Given the description of an element on the screen output the (x, y) to click on. 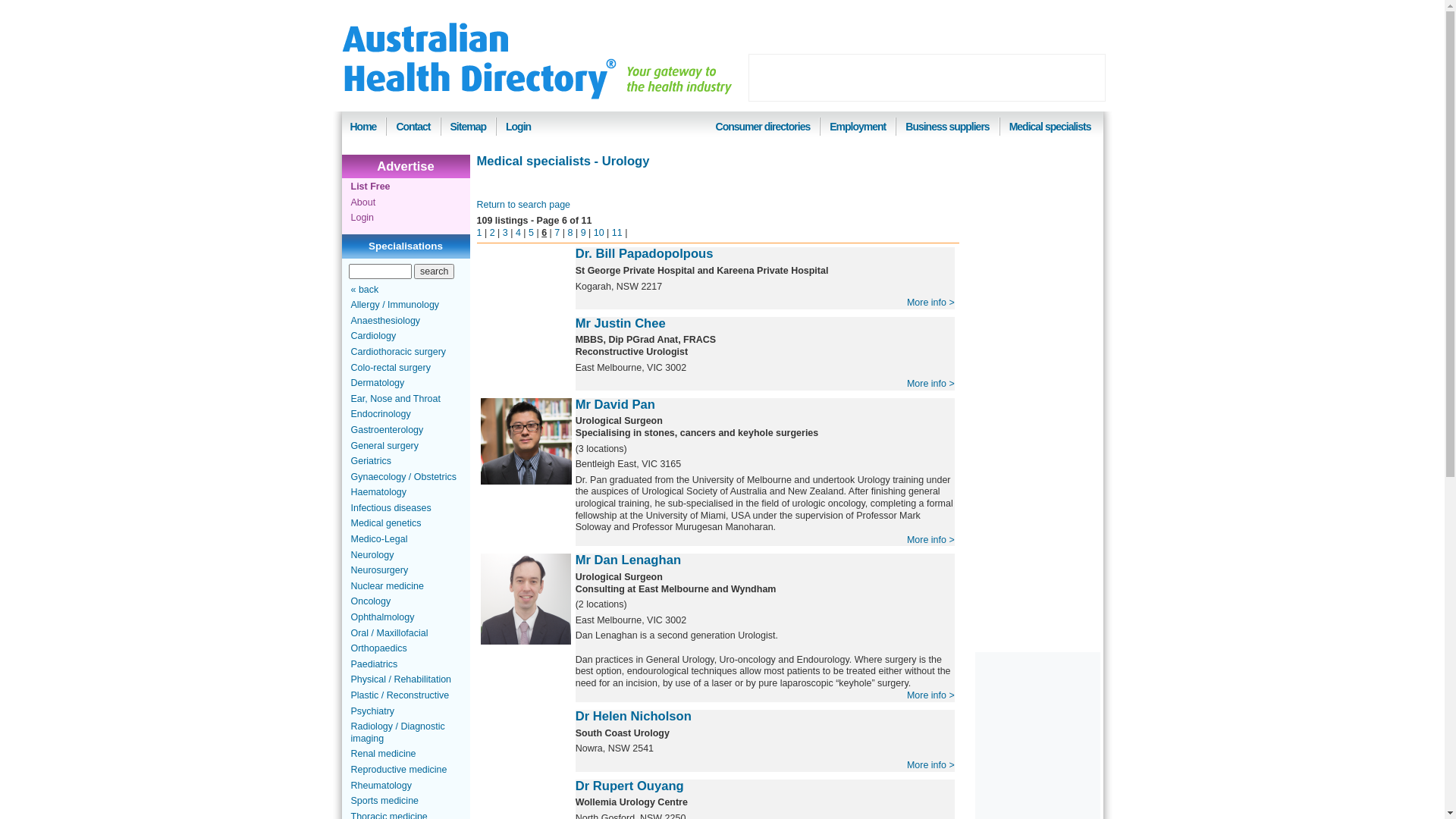
Radiology / Diagnostic imaging Element type: text (397, 732)
Contact Element type: text (412, 126)
5 Element type: text (530, 232)
Dr. Bill Papadopolpous Element type: text (644, 253)
Haematology Element type: text (378, 491)
Neurosurgery Element type: text (378, 569)
Sports medicine Element type: text (384, 800)
Specialisations Element type: text (405, 245)
About Element type: text (362, 202)
1 Element type: text (478, 232)
Mr David Pan Element type: text (615, 404)
Australian Health Directory Element type: text (478, 60)
Reproductive medicine Element type: text (398, 769)
Home Element type: text (363, 126)
7 Element type: text (556, 232)
Rheumatology Element type: text (380, 785)
11 Element type: text (616, 232)
Employment Element type: text (857, 126)
Medical specialists Element type: text (1050, 126)
Business suppliers Element type: text (946, 126)
4 Element type: text (517, 232)
Orthopaedics Element type: text (378, 648)
Medical genetics Element type: text (385, 522)
Dr Rupert Ouyang Element type: text (629, 785)
Mr Justin Chee Element type: text (620, 323)
Allergy / Immunology Element type: text (394, 304)
More info > Element type: text (930, 764)
Return to search page Element type: text (523, 204)
Advertisement Element type: hover (926, 77)
Sitemap Element type: text (468, 126)
Geriatrics Element type: text (370, 460)
Oral / Maxillofacial Element type: text (388, 632)
List Free Element type: text (369, 186)
Login Element type: text (361, 217)
Dr Helen Nicholson Element type: text (633, 716)
3 Element type: text (505, 232)
Advertisement Element type: hover (1032, 387)
9 Element type: text (583, 232)
Oncology Element type: text (370, 601)
2 Element type: text (492, 232)
General surgery Element type: text (384, 444)
Anaesthesiology Element type: text (385, 320)
Nuclear medicine Element type: text (386, 585)
More info > Element type: text (930, 383)
Dermatology Element type: text (377, 382)
Ophthalmology Element type: text (382, 616)
Cardiology Element type: text (372, 335)
Plastic / Reconstructive Element type: text (399, 695)
Gynaecology / Obstetrics Element type: text (402, 476)
More info > Element type: text (930, 539)
search Element type: text (434, 271)
Colo-rectal surgery Element type: text (389, 367)
Infectious diseases Element type: text (390, 507)
8 Element type: text (569, 232)
Login Element type: text (517, 126)
More info > Element type: text (930, 695)
Physical / Rehabilitation Element type: text (400, 679)
10 Element type: text (598, 232)
Consumer directories Element type: text (762, 126)
Neurology Element type: text (371, 554)
Ear, Nose and Throat Element type: text (394, 398)
Mr Dan Lenaghan Element type: text (627, 559)
Psychiatry Element type: text (372, 711)
Cardiothoracic surgery Element type: text (397, 351)
Paediatrics Element type: text (373, 663)
Endocrinology Element type: text (380, 413)
Medico-Legal Element type: text (378, 538)
More info > Element type: text (930, 302)
Gastroenterology Element type: text (386, 429)
Renal medicine Element type: text (382, 753)
